Given the description of an element on the screen output the (x, y) to click on. 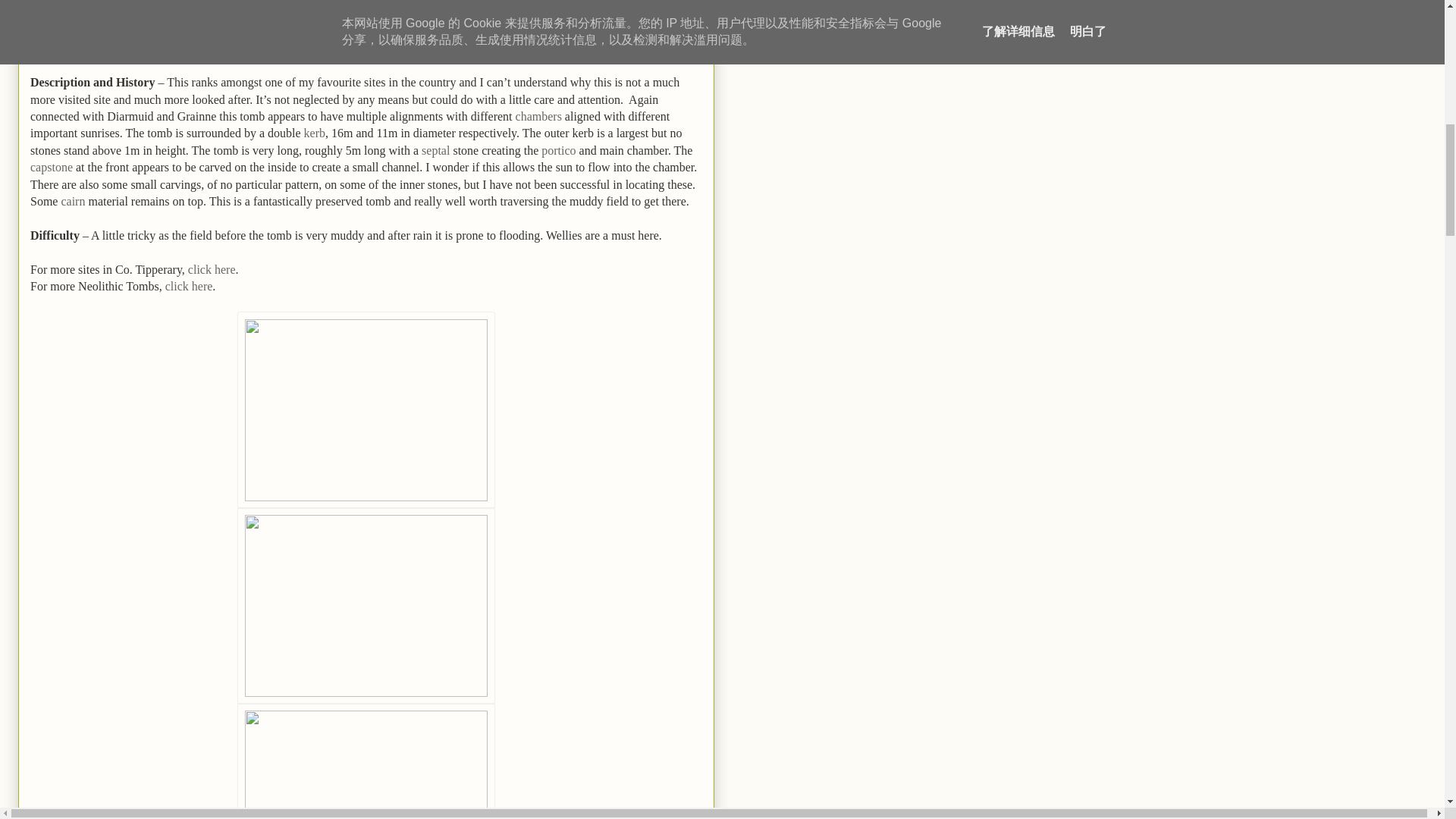
click here (188, 286)
capstone (51, 166)
kerb (314, 132)
septal (435, 150)
chambers (538, 115)
click here (211, 269)
portico (558, 150)
cairn (72, 201)
